Given the description of an element on the screen output the (x, y) to click on. 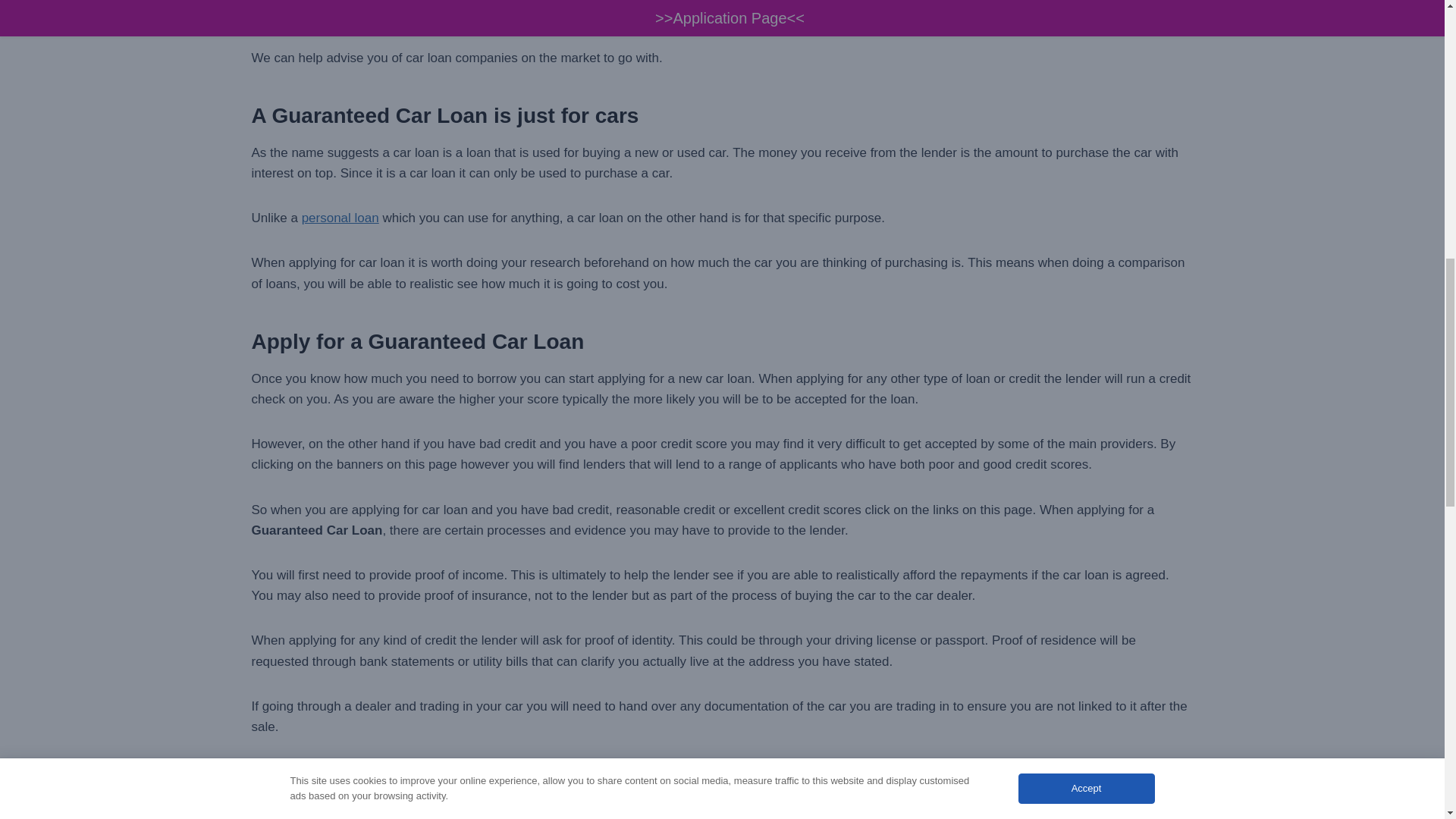
approved online (904, 12)
Car Loan (349, 12)
personal loan (339, 217)
